Given the description of an element on the screen output the (x, y) to click on. 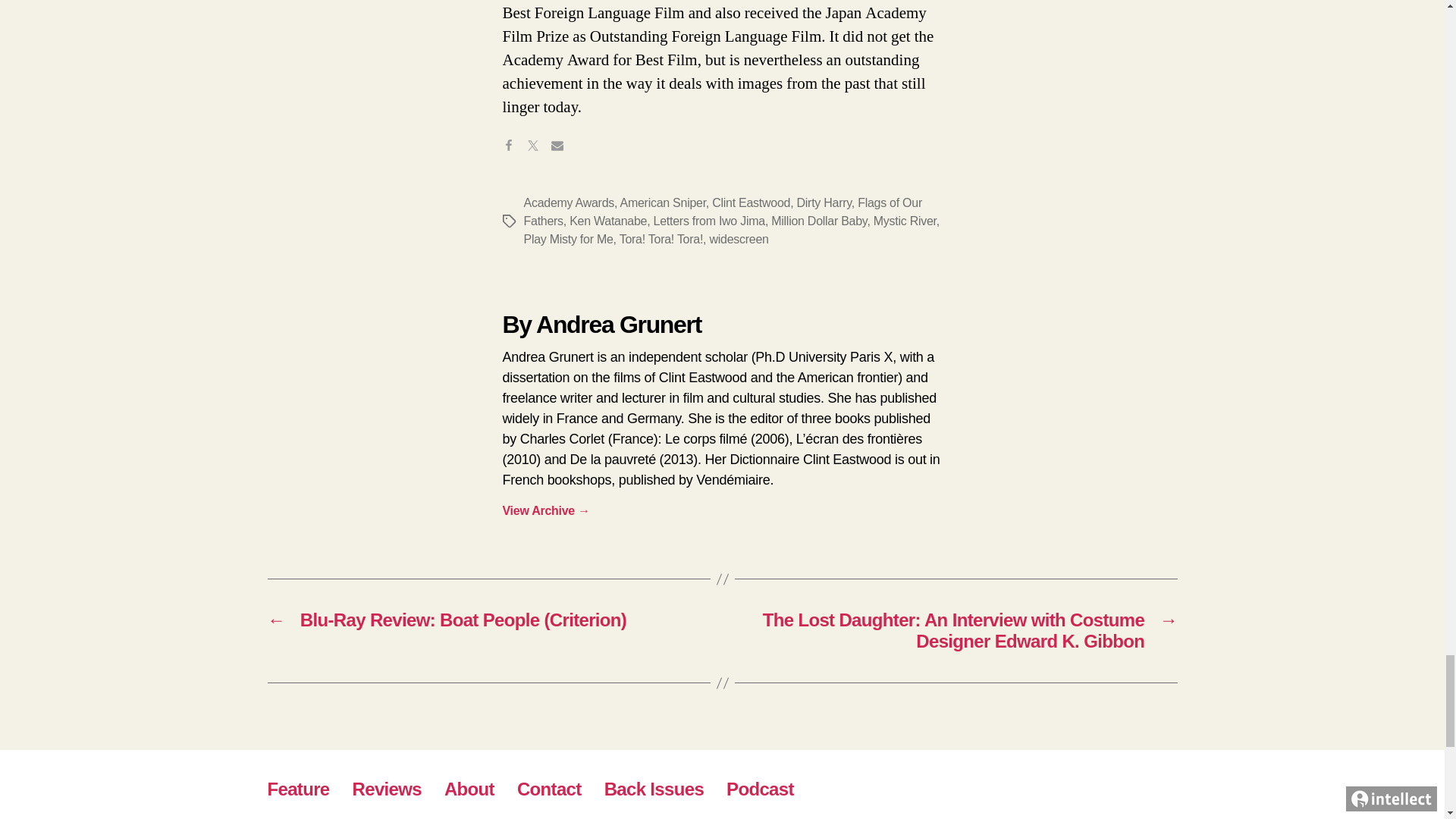
Share on Facebook (513, 151)
Share on Twitter (537, 151)
Share via Email (562, 151)
